Given the description of an element on the screen output the (x, y) to click on. 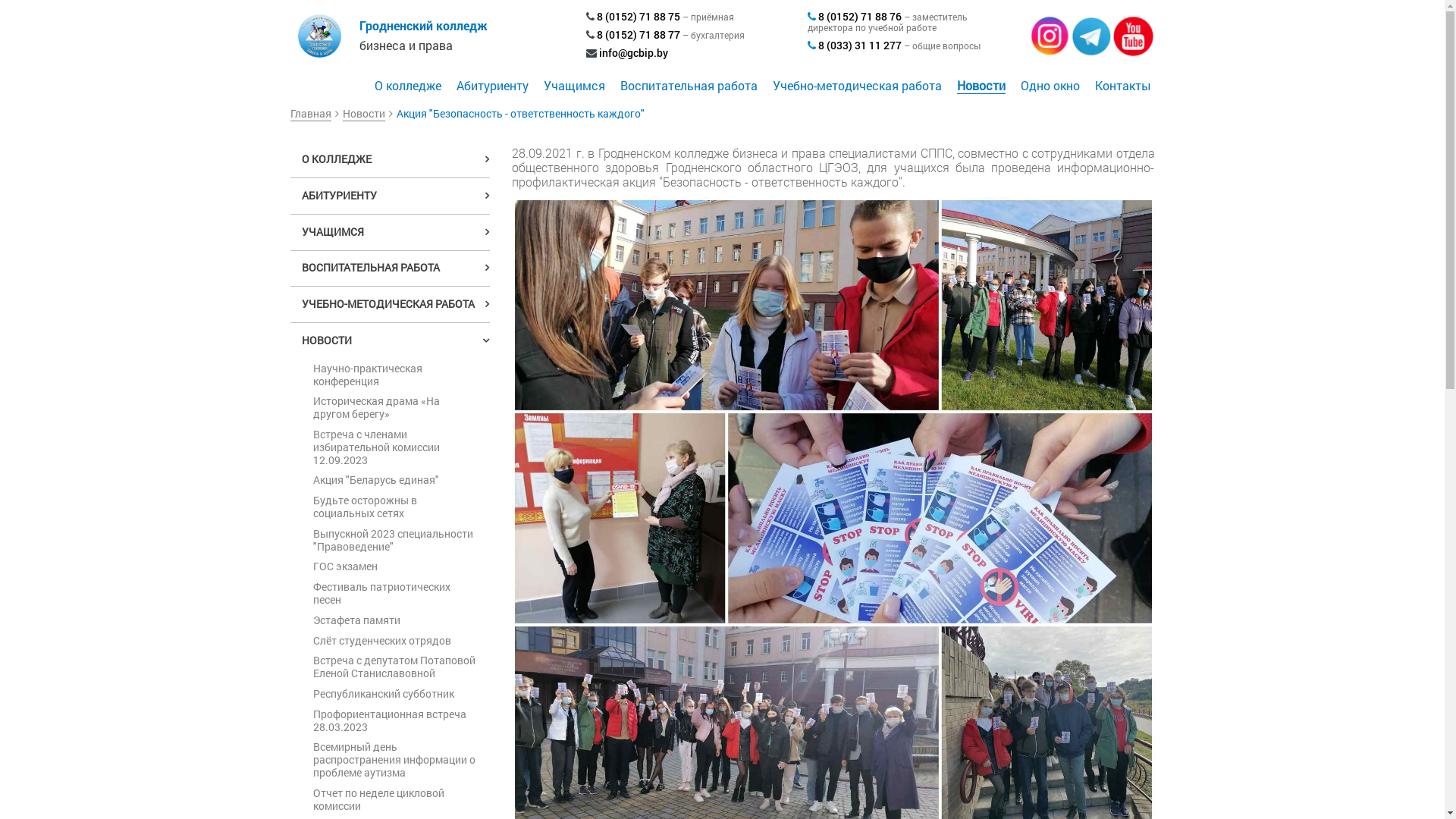
8 (033) 31 11 277 Element type: text (859, 44)
8 (0152) 71 88 77 Element type: text (637, 34)
info@gcbip.by Element type: text (633, 52)
8 (0152) 71 88 76 Element type: text (859, 16)
8 (0152) 71 88 75 Element type: text (637, 16)
